Given the description of an element on the screen output the (x, y) to click on. 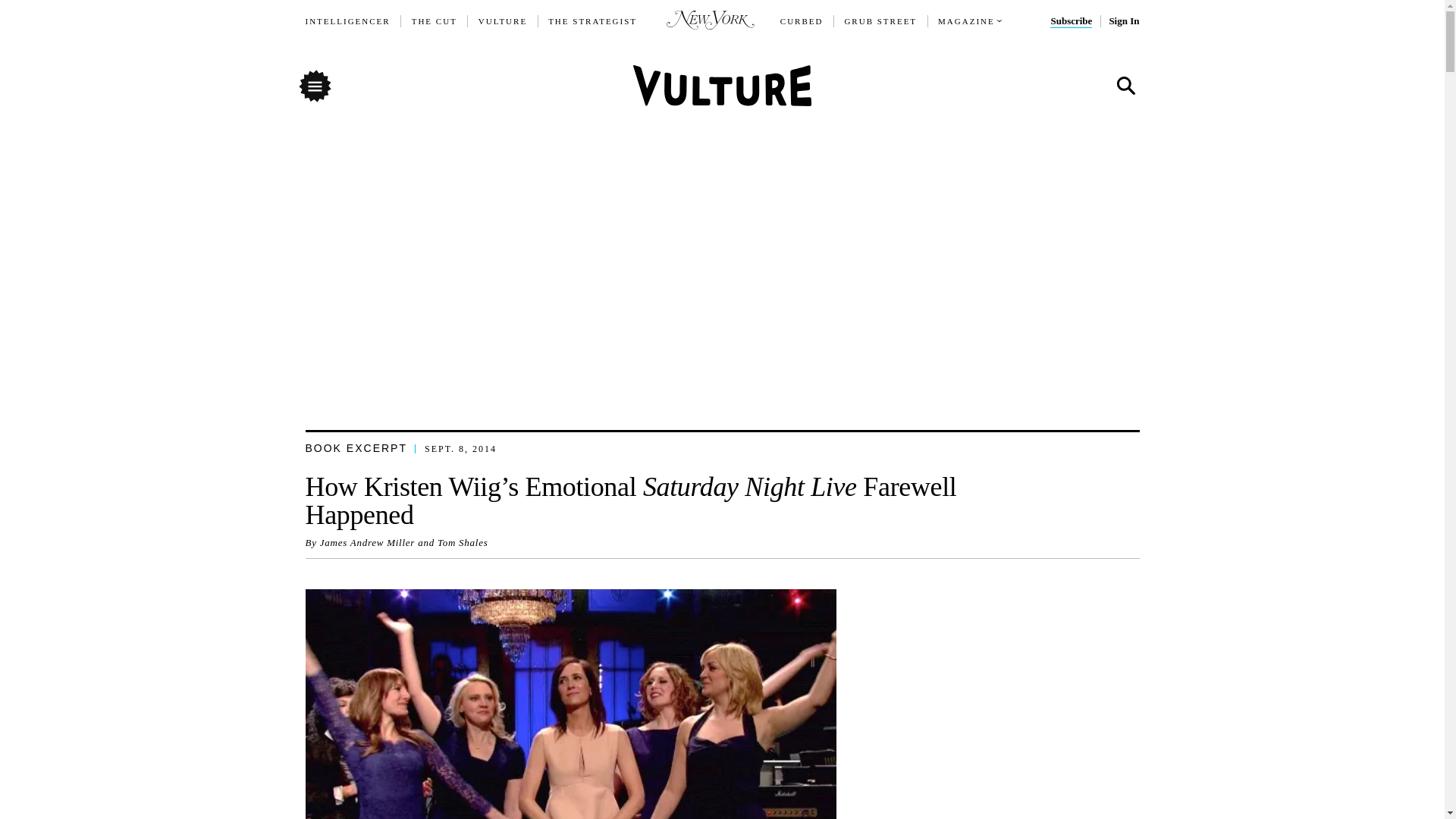
VULTURE (503, 21)
Menu (314, 84)
INTELLIGENCER (347, 21)
GRUB STREET (880, 21)
Search (1124, 86)
THE CUT (434, 21)
CURBED (802, 21)
Sign In (1123, 21)
MAGAZINE (965, 21)
THE STRATEGIST (592, 21)
Subscribe (1070, 21)
